Given the description of an element on the screen output the (x, y) to click on. 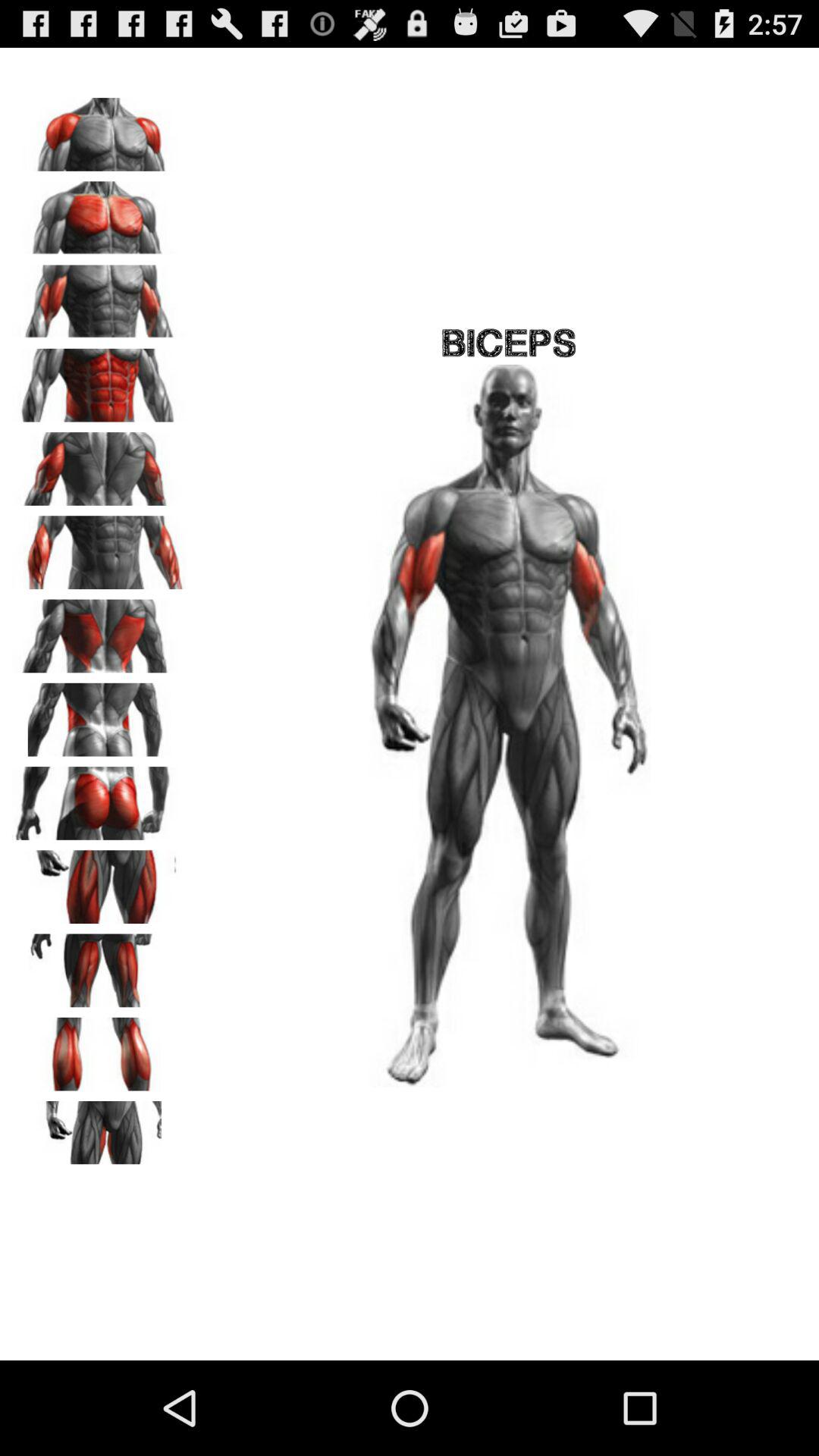
leg (99, 881)
